Given the description of an element on the screen output the (x, y) to click on. 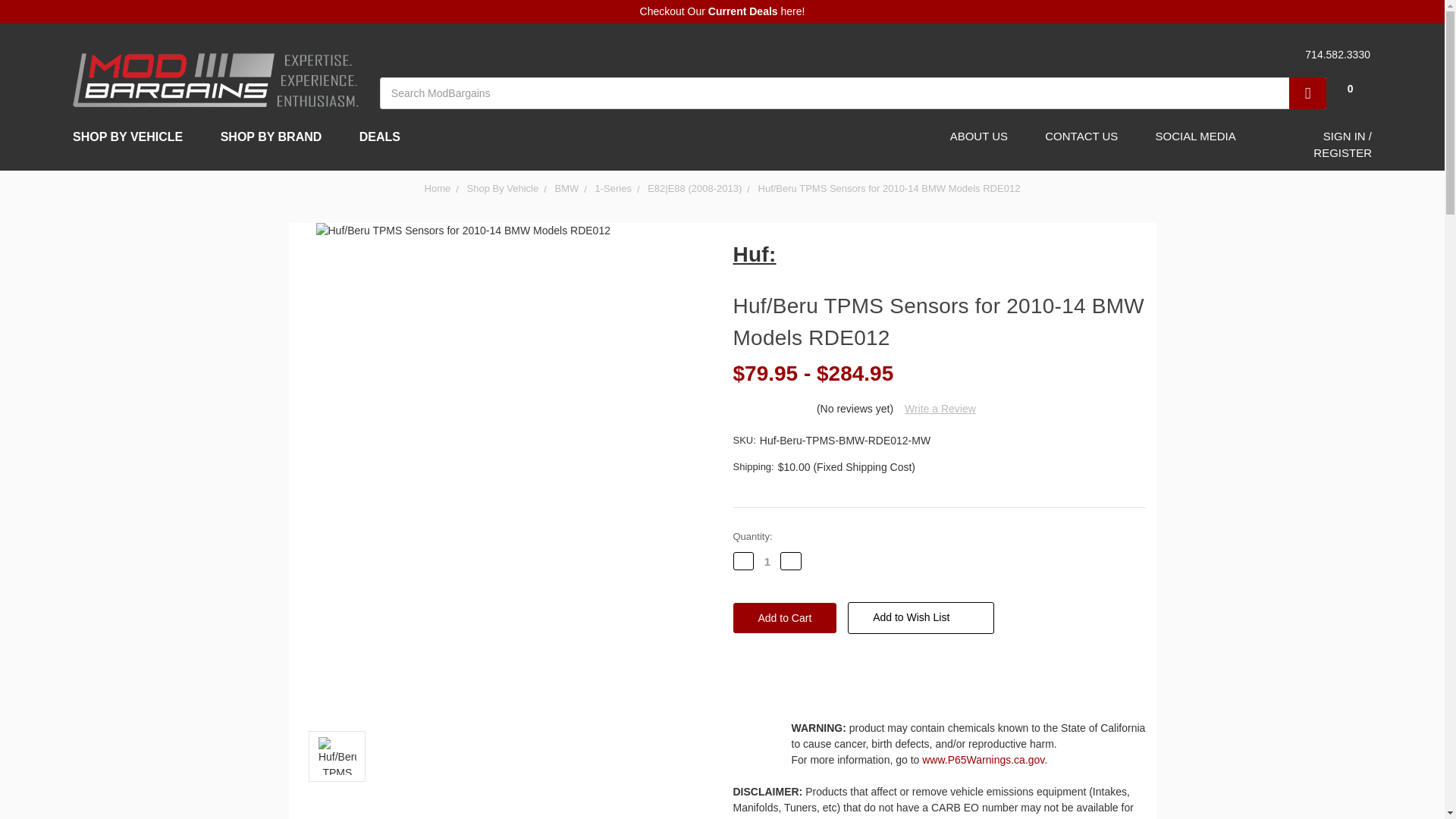
714.582.3330 (1335, 54)
Add to Cart (783, 617)
1 (767, 561)
SHOP BY VEHICLE (134, 136)
ModBargains (215, 78)
0 (1348, 34)
